Given the description of an element on the screen output the (x, y) to click on. 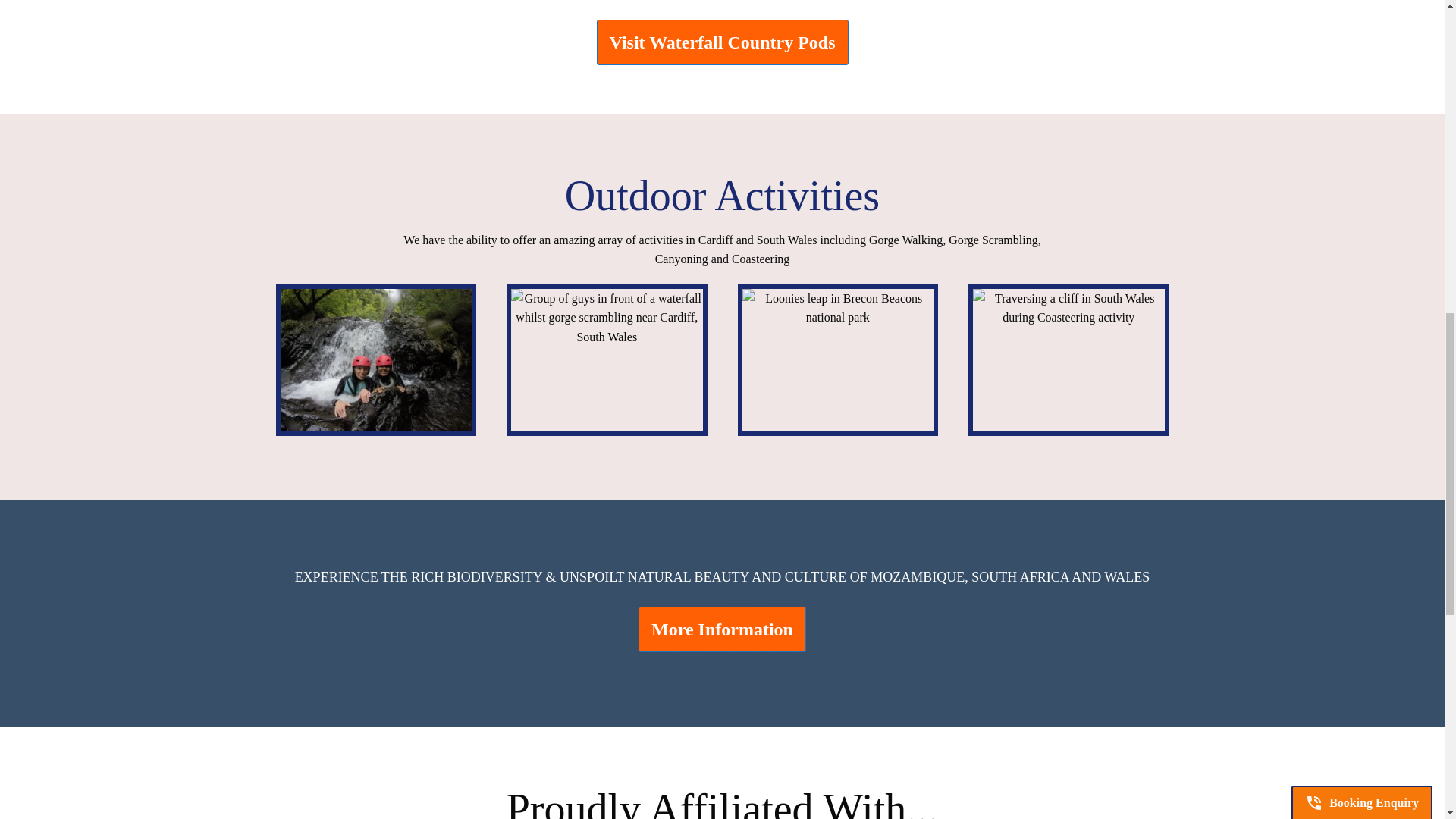
More Information (722, 628)
Visit Waterfall Country Pods (721, 42)
